Given the description of an element on the screen output the (x, y) to click on. 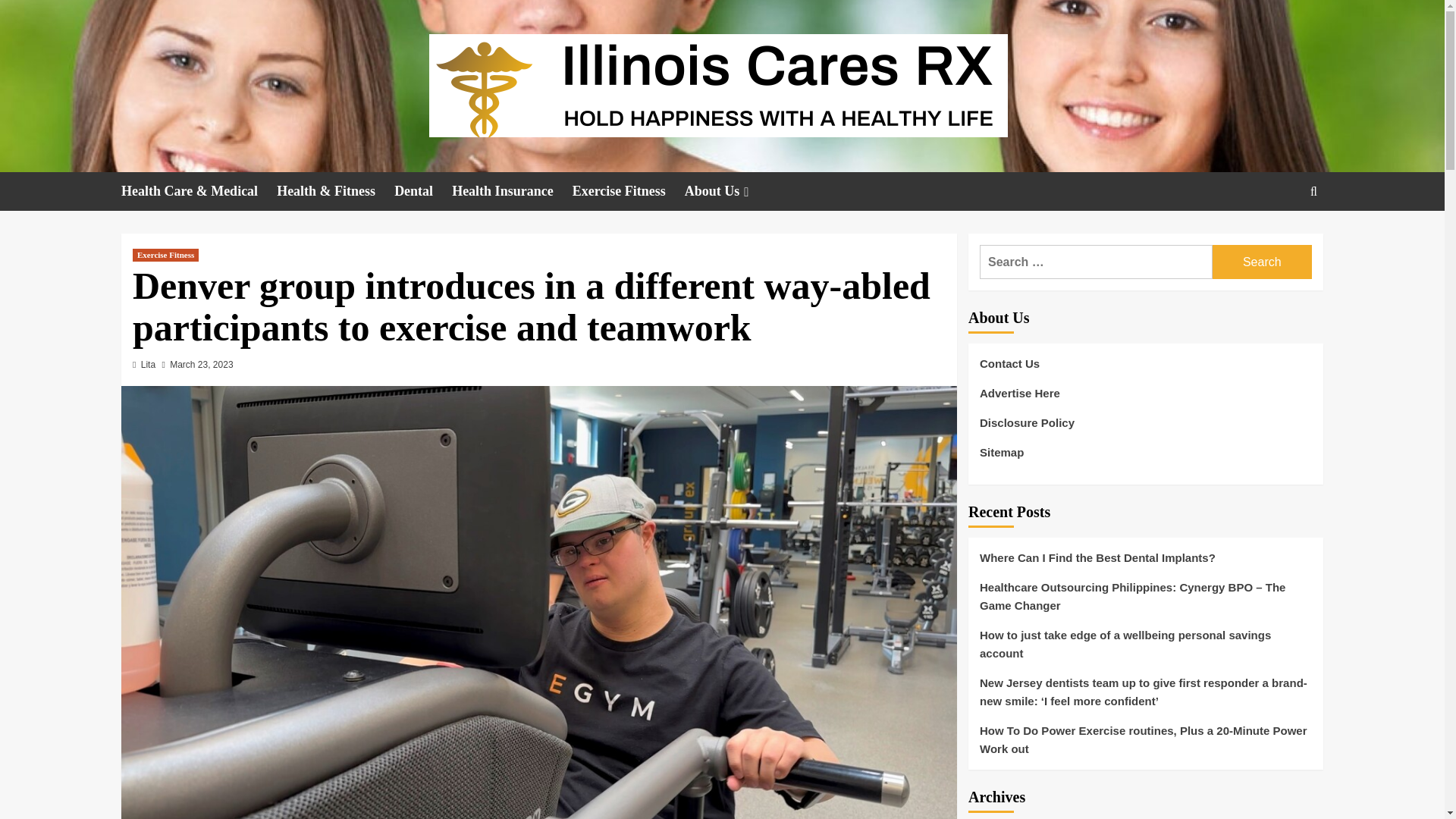
Exercise Fitness (628, 190)
March 23, 2023 (201, 364)
Lita (148, 364)
Dental (422, 190)
Health Insurance (511, 190)
Search (1261, 261)
Search (1278, 238)
Search (1313, 190)
Exercise Fitness (165, 254)
About Us (728, 190)
Search (1261, 261)
